Given the description of an element on the screen output the (x, y) to click on. 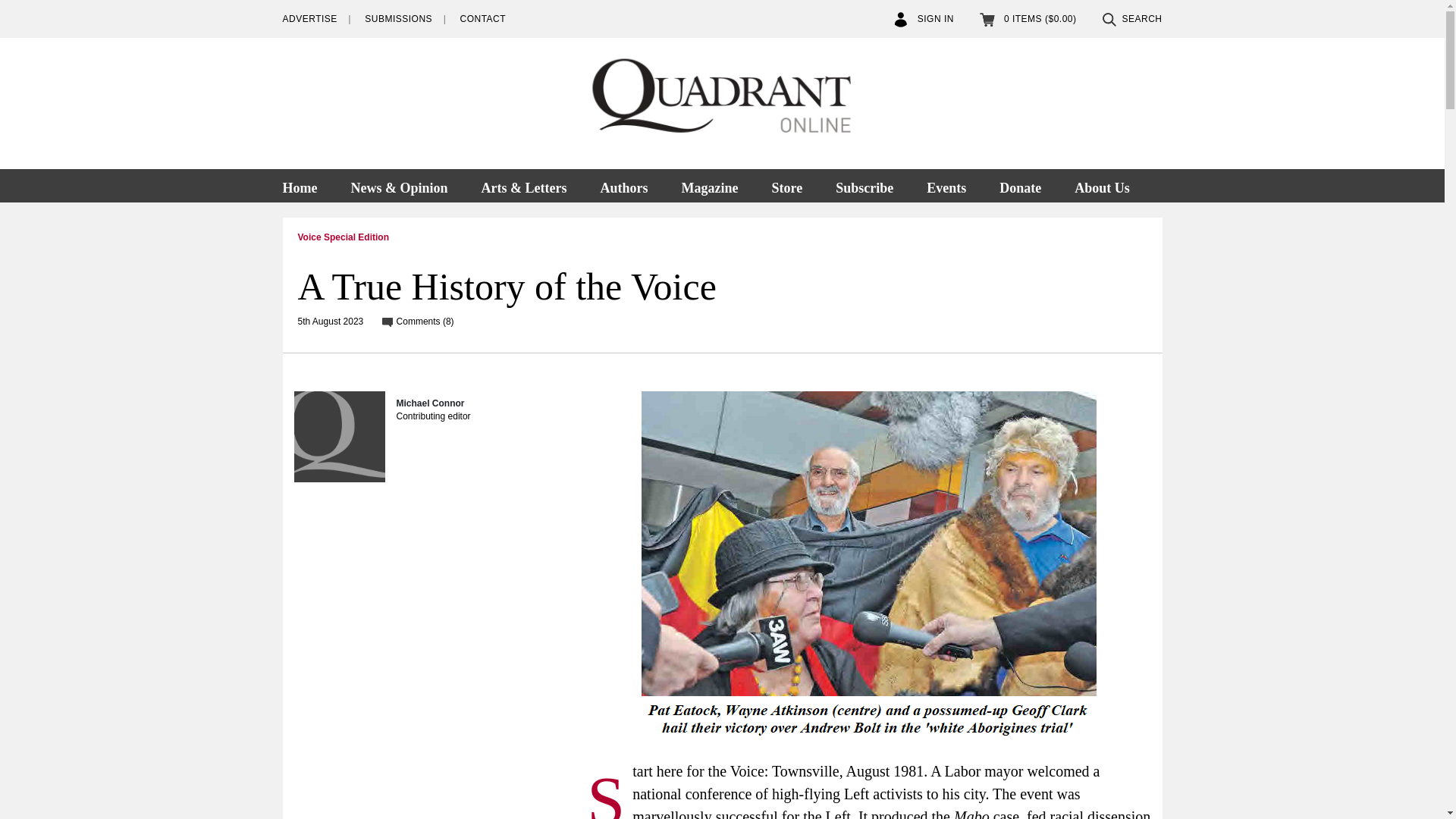
ADVERTISE (309, 18)
Store (785, 185)
Home (306, 185)
Magazine (708, 185)
Subscribe (864, 185)
Events (946, 185)
Authors (623, 185)
SUBMISSIONS (398, 18)
Donate (1020, 185)
About Us (1101, 185)
CONTACT (482, 18)
SIGN IN (923, 18)
SEARCH (1131, 18)
